Given the description of an element on the screen output the (x, y) to click on. 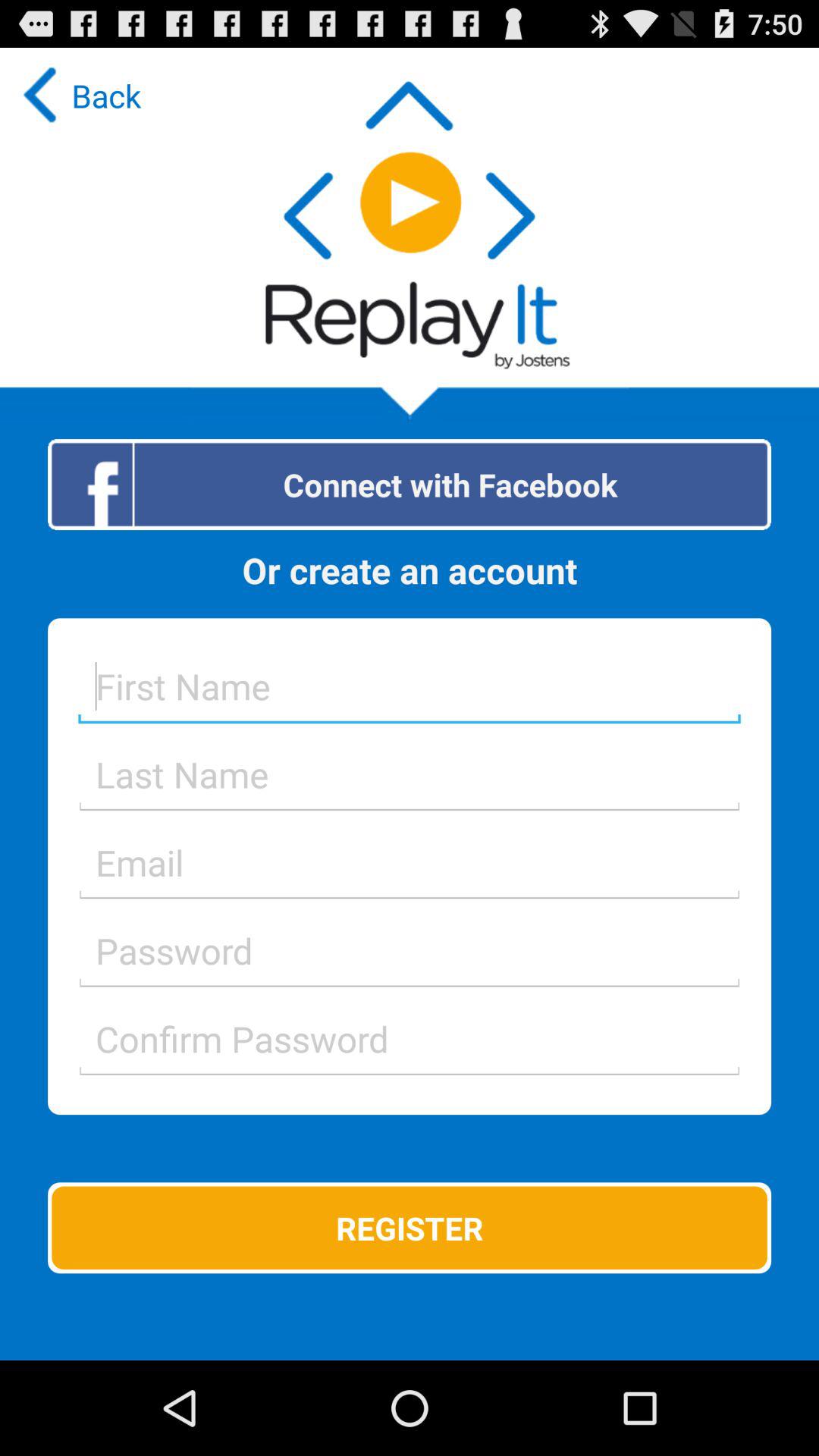
select back app (78, 95)
